Given the description of an element on the screen output the (x, y) to click on. 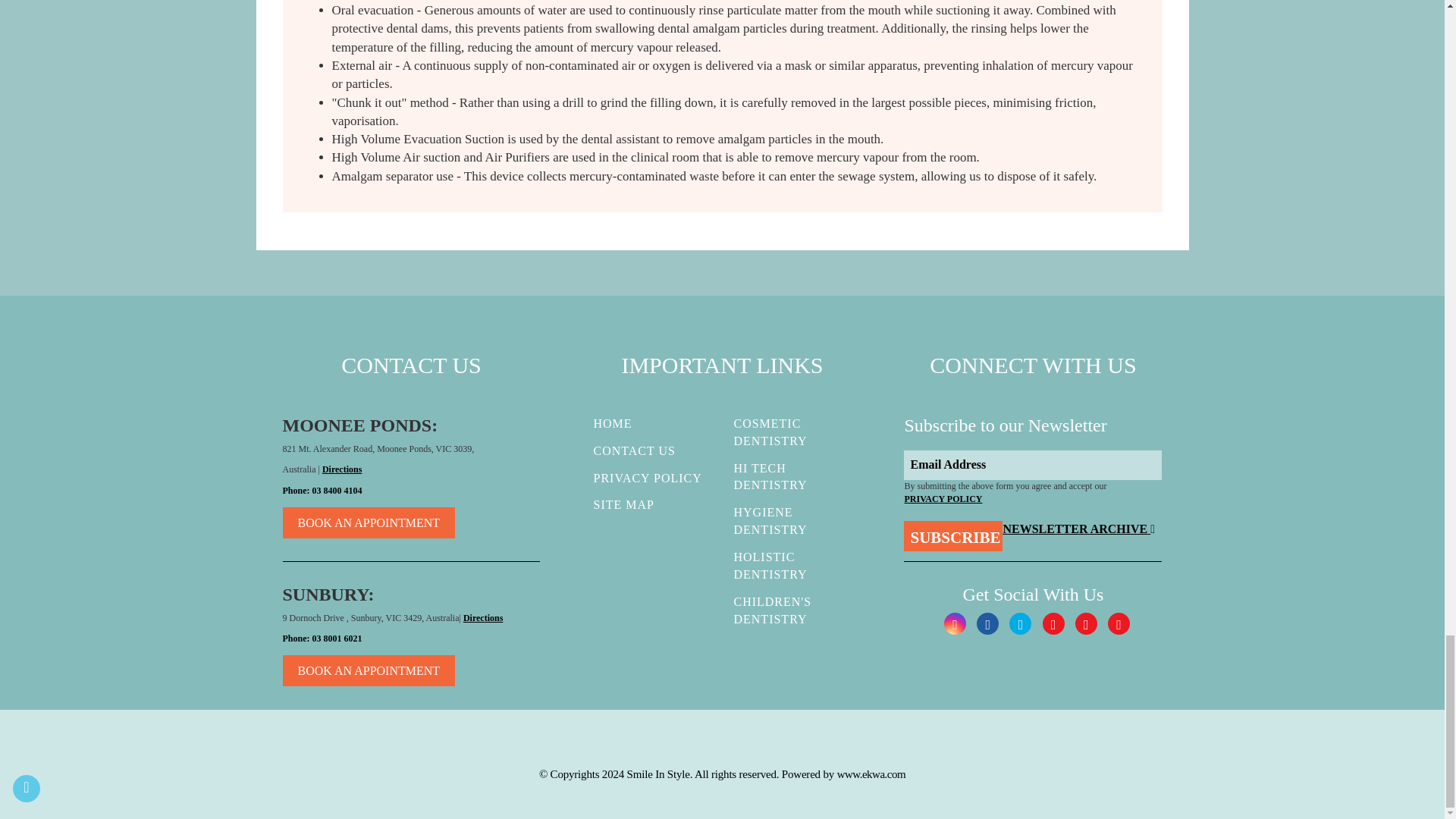
Facebook (987, 623)
Pinterest (1118, 623)
YouTube (1086, 623)
Twitter (1019, 623)
Google Business (1053, 623)
Subscribe (953, 535)
Instagram (954, 623)
